Given the description of an element on the screen output the (x, y) to click on. 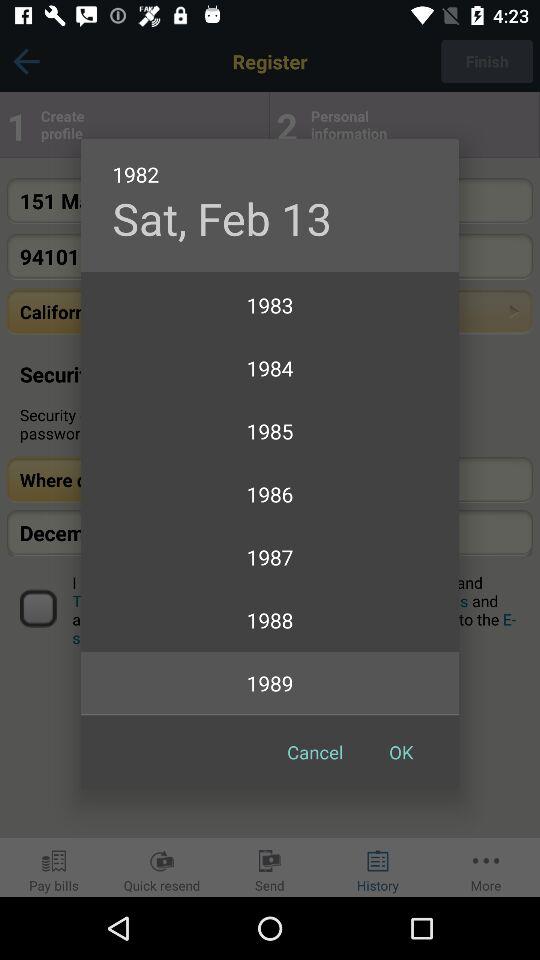
turn off the item below 1990 (315, 751)
